Given the description of an element on the screen output the (x, y) to click on. 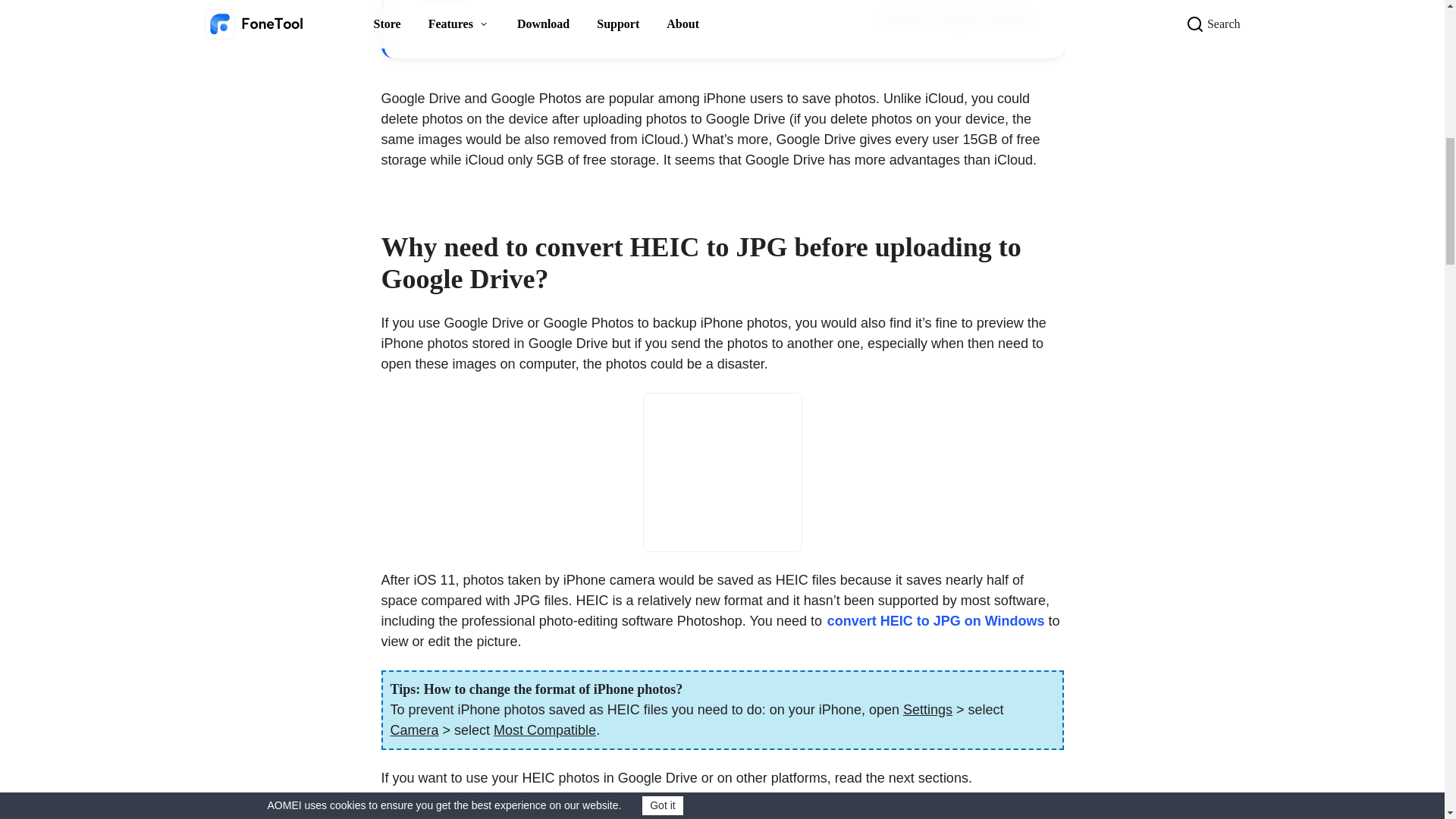
HEIC File (722, 472)
convert HEIC to JPG on Windows (936, 620)
